Given the description of an element on the screen output the (x, y) to click on. 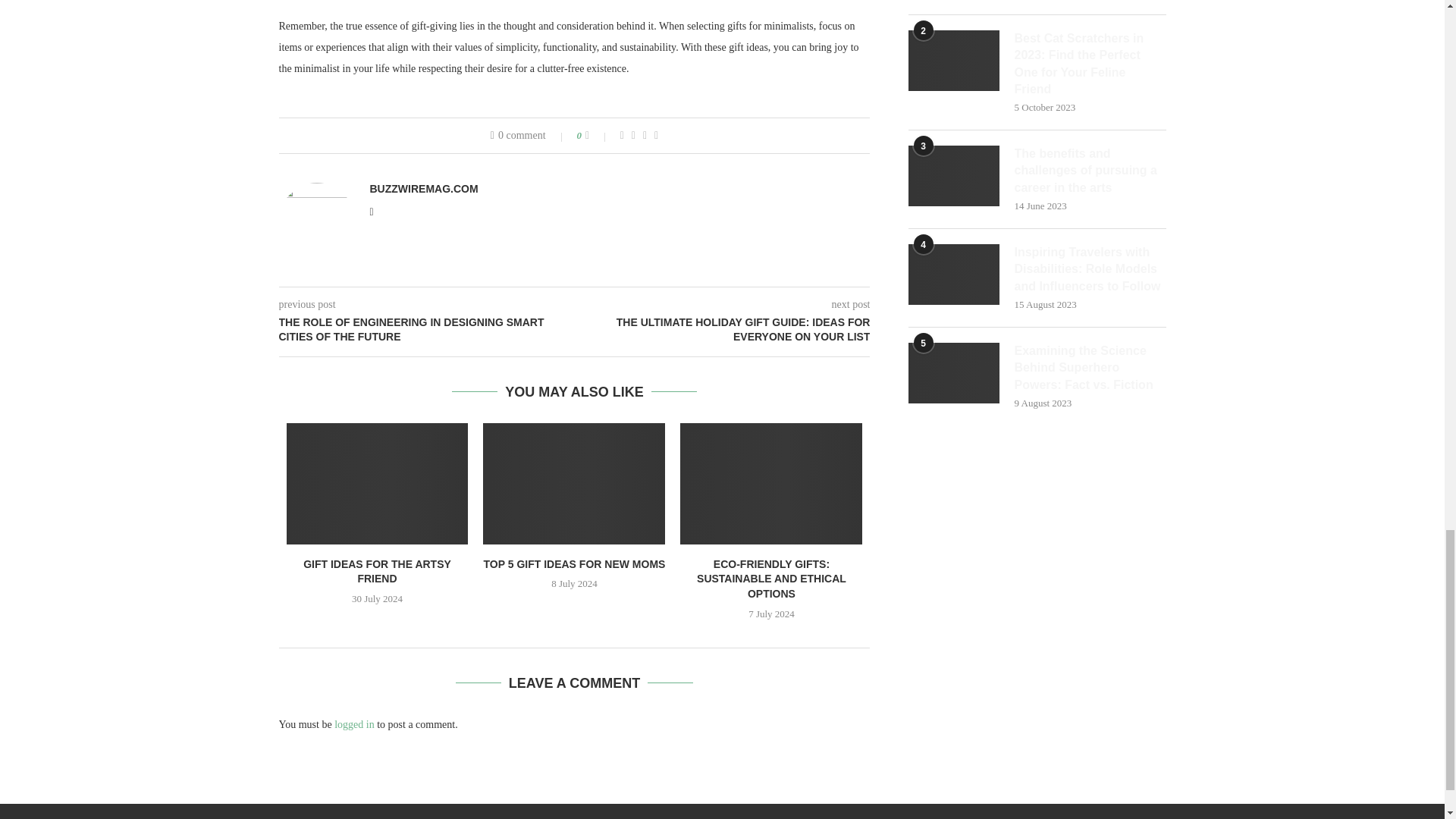
Gift Ideas for the Artsy Friend (377, 483)
Eco-Friendly Gifts: Sustainable and Ethical Options (770, 483)
Like (597, 135)
Top 5 Gift Ideas for New Moms (574, 483)
Author buzzwiremag.com (424, 188)
